Given the description of an element on the screen output the (x, y) to click on. 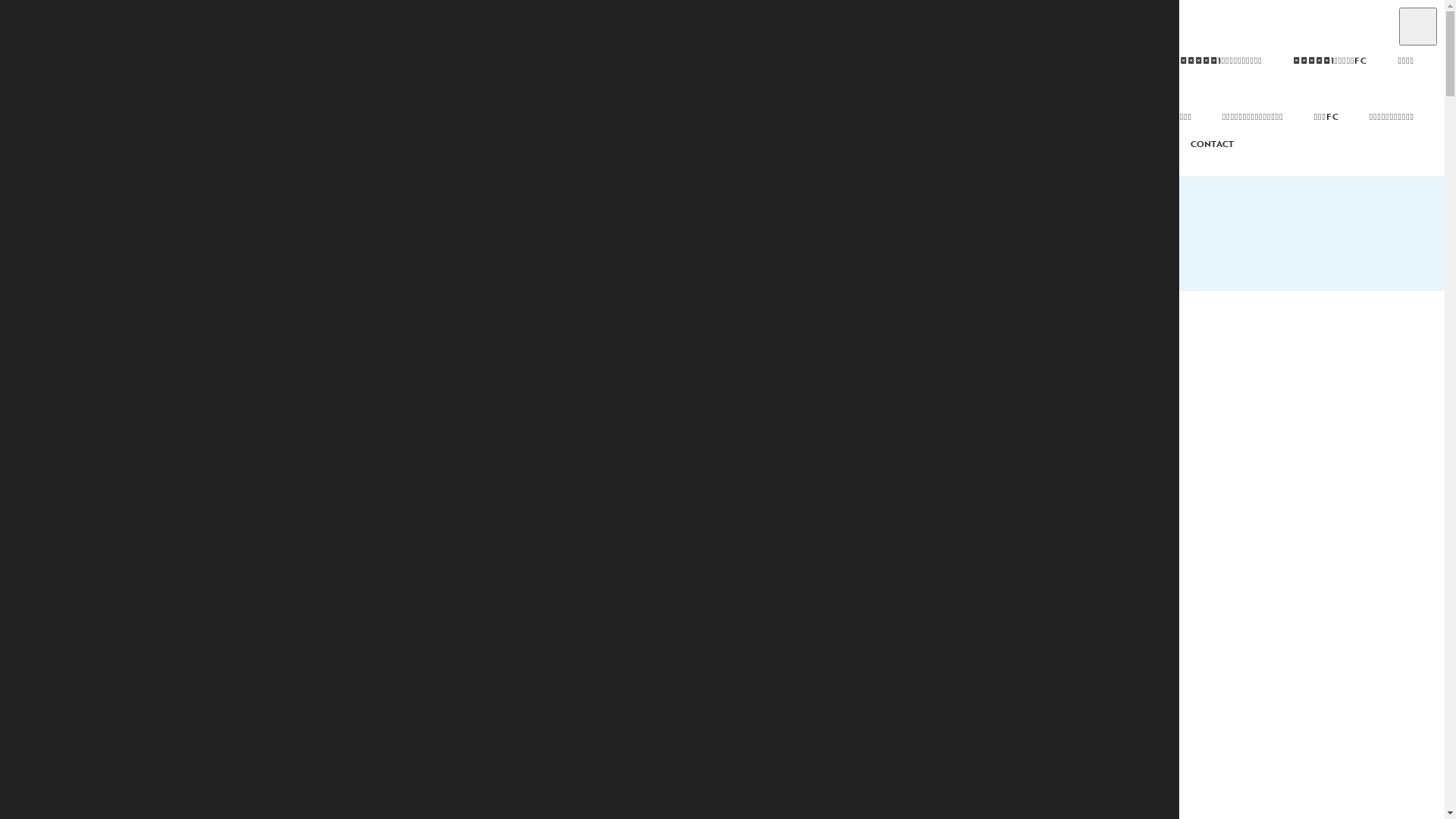
TOP Element type: text (316, 303)
SERVICE Element type: text (1114, 87)
COMPANY Element type: text (1118, 143)
CONTACT Element type: text (1212, 143)
JOB Element type: text (1104, 31)
